Given the description of an element on the screen output the (x, y) to click on. 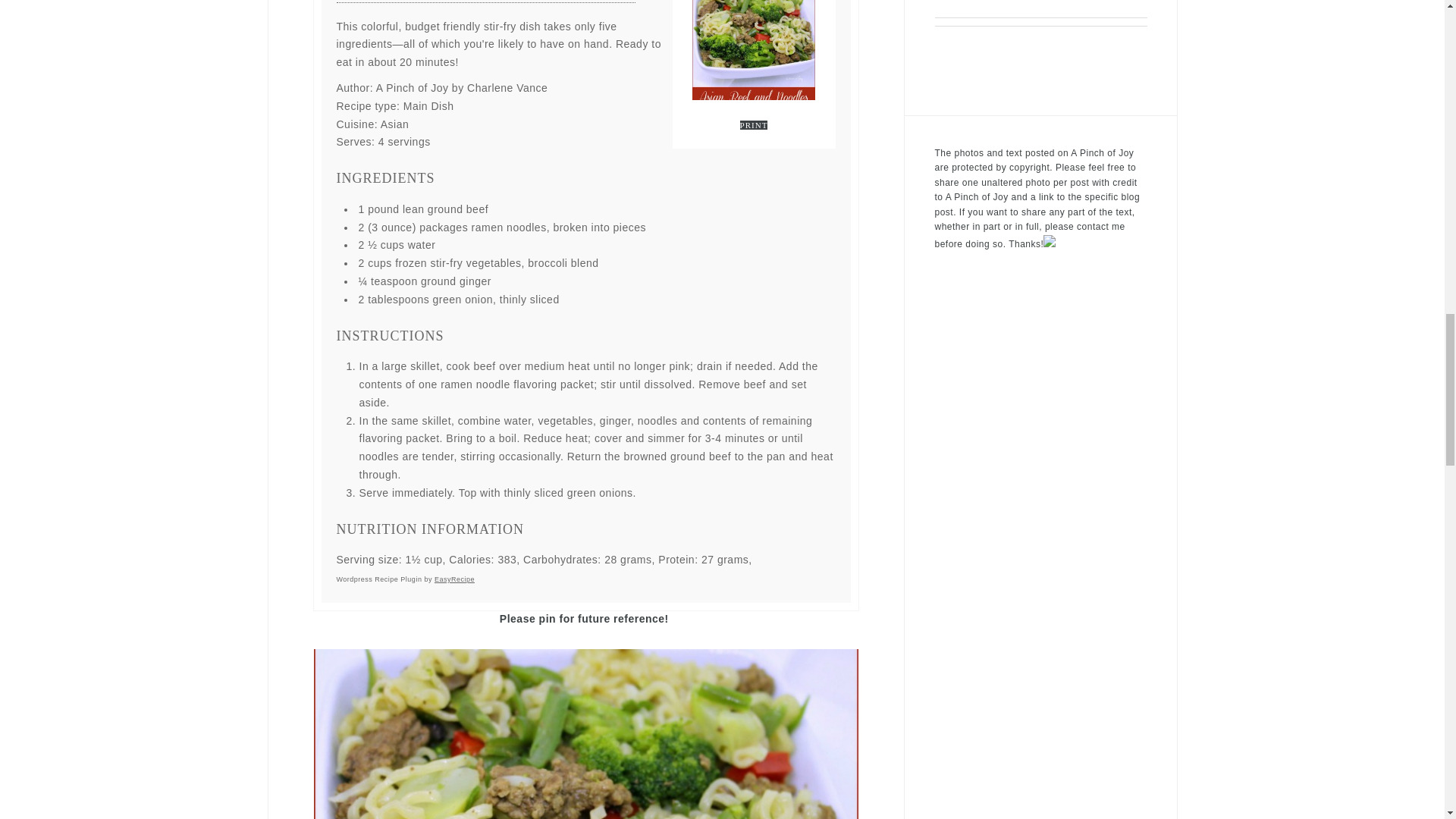
EasyRecipe Wordpress Recipe Plugin (405, 579)
Wordpress Recipe Plugin by EasyRecipe (405, 579)
PRINT (753, 124)
